Given the description of an element on the screen output the (x, y) to click on. 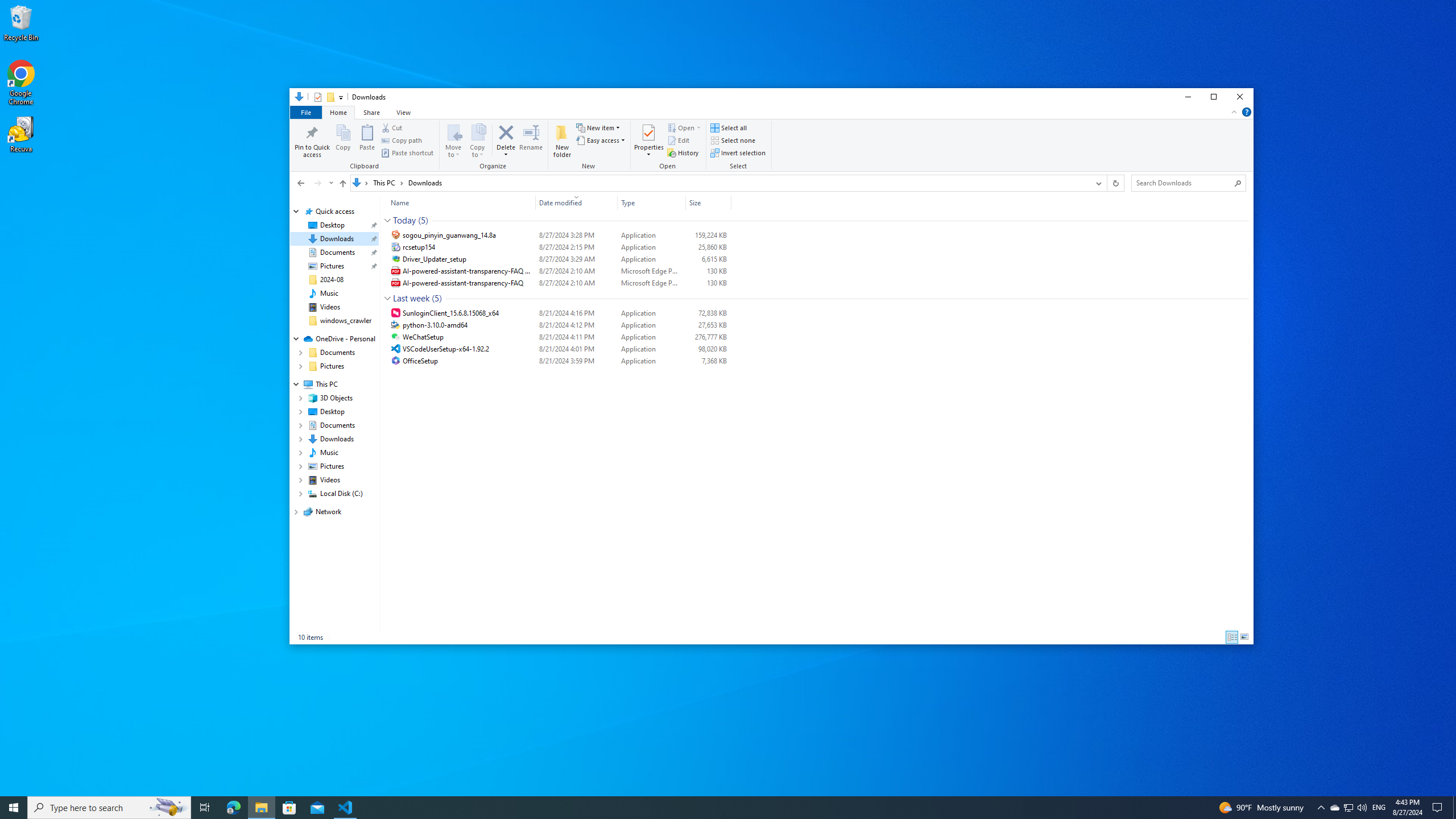
Copy (343, 140)
OfficeSetup (558, 360)
Properties (649, 150)
Documents (pinned) (337, 252)
AI-powered-assistant-transparency-FAQ (1) (558, 271)
Delete (505, 150)
Minimize the Ribbon (1233, 111)
Address band toolbar (1106, 182)
Copy path (401, 140)
Type (651, 360)
Collapse Group (386, 298)
Paste shortcut (407, 152)
System (295, 98)
Close (1240, 96)
